Given the description of an element on the screen output the (x, y) to click on. 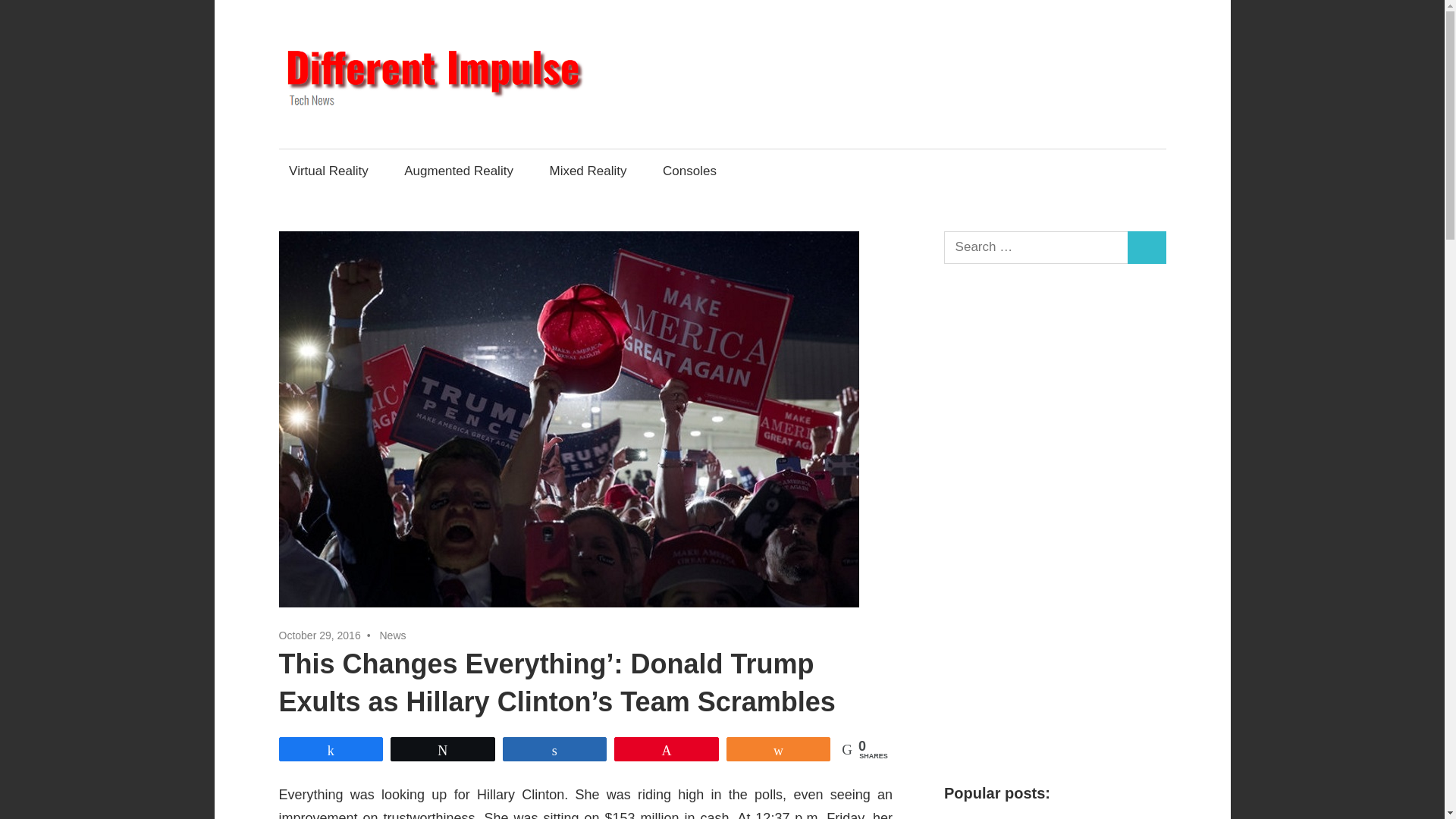
News (392, 635)
Augmented Reality (459, 170)
Mixed Reality (587, 170)
Consoles (693, 170)
Search (1146, 246)
October 29, 2016 (320, 635)
22:08 (320, 635)
Virtual Reality (328, 170)
Search for: (1035, 246)
